Given the description of an element on the screen output the (x, y) to click on. 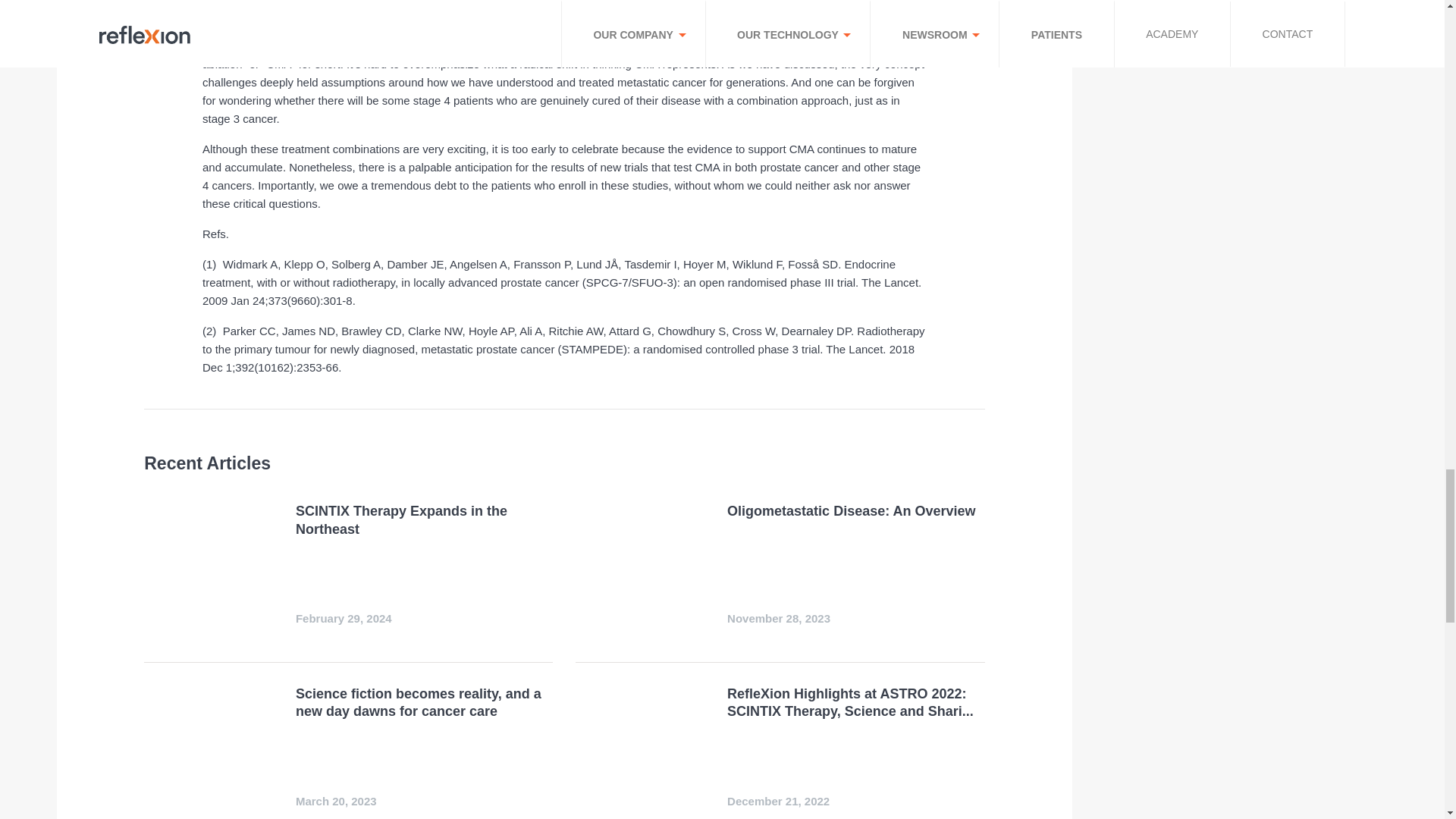
Oligometastatic Disease: An Overview (850, 510)
SCINTIX Therapy Expands in the Northeast (400, 519)
